Given the description of an element on the screen output the (x, y) to click on. 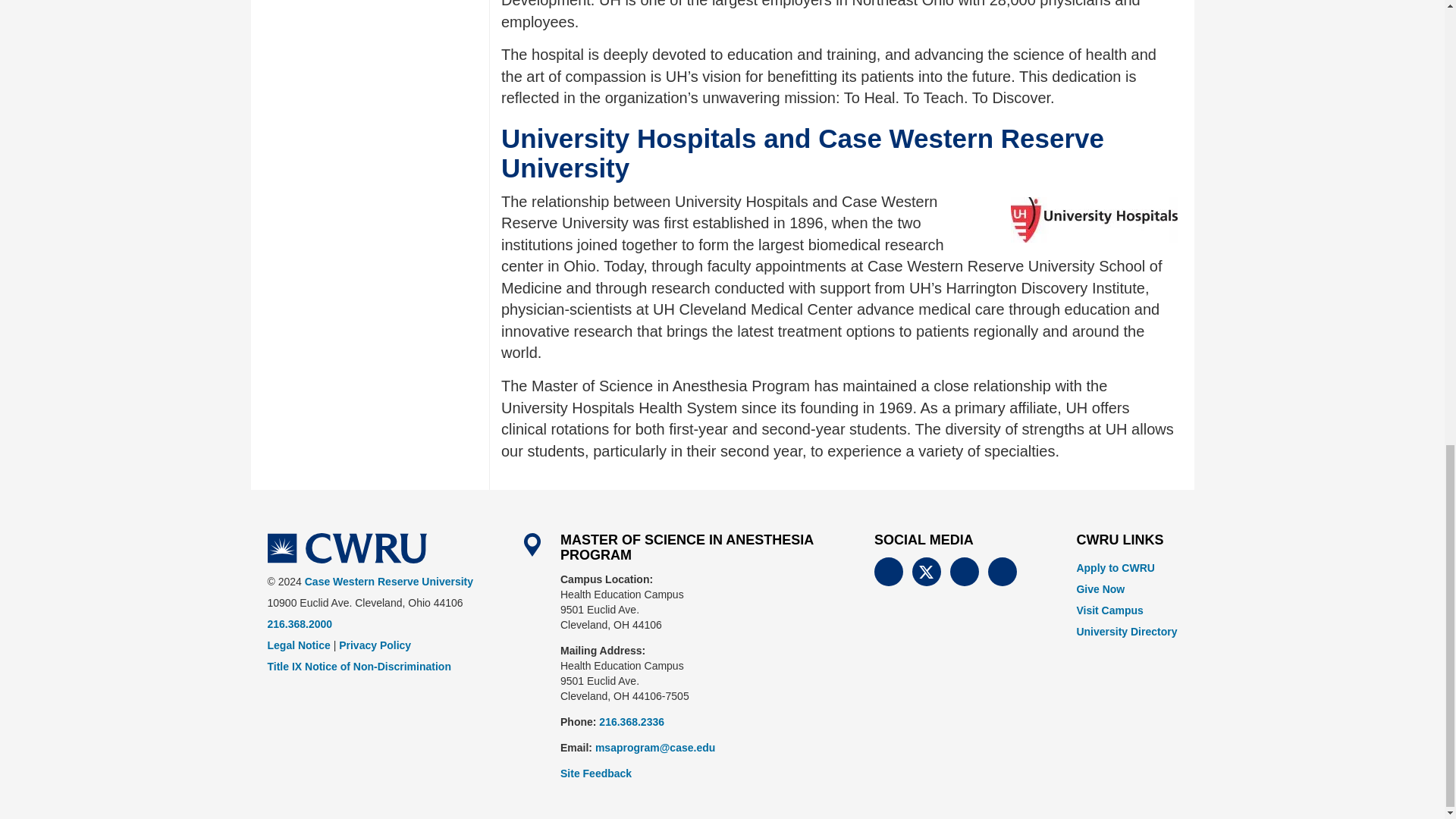
CWRU Instagram (964, 571)
Case Western Reserve University (346, 548)
CWRU Facebook (888, 571)
CWRU Twitter (926, 571)
CWRU Linkedin (1002, 571)
